Given the description of an element on the screen output the (x, y) to click on. 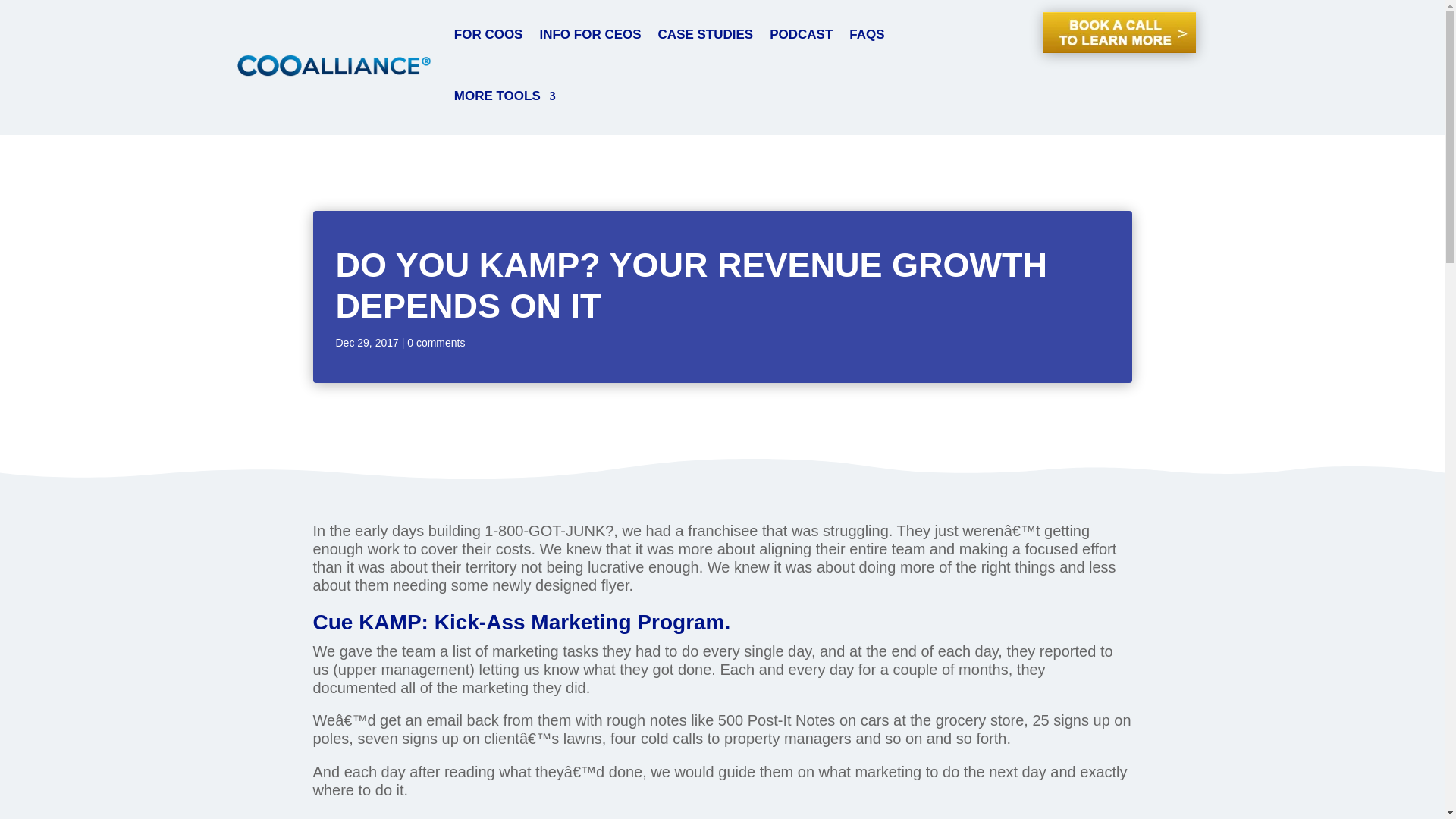
CASE STUDIES (706, 35)
MORE TOOLS (505, 96)
0 comments (435, 342)
cooa-book-button-fin-01 (1119, 32)
FOR COOS (488, 35)
INFO FOR CEOS (589, 35)
PODCAST (801, 35)
